Given the description of an element on the screen output the (x, y) to click on. 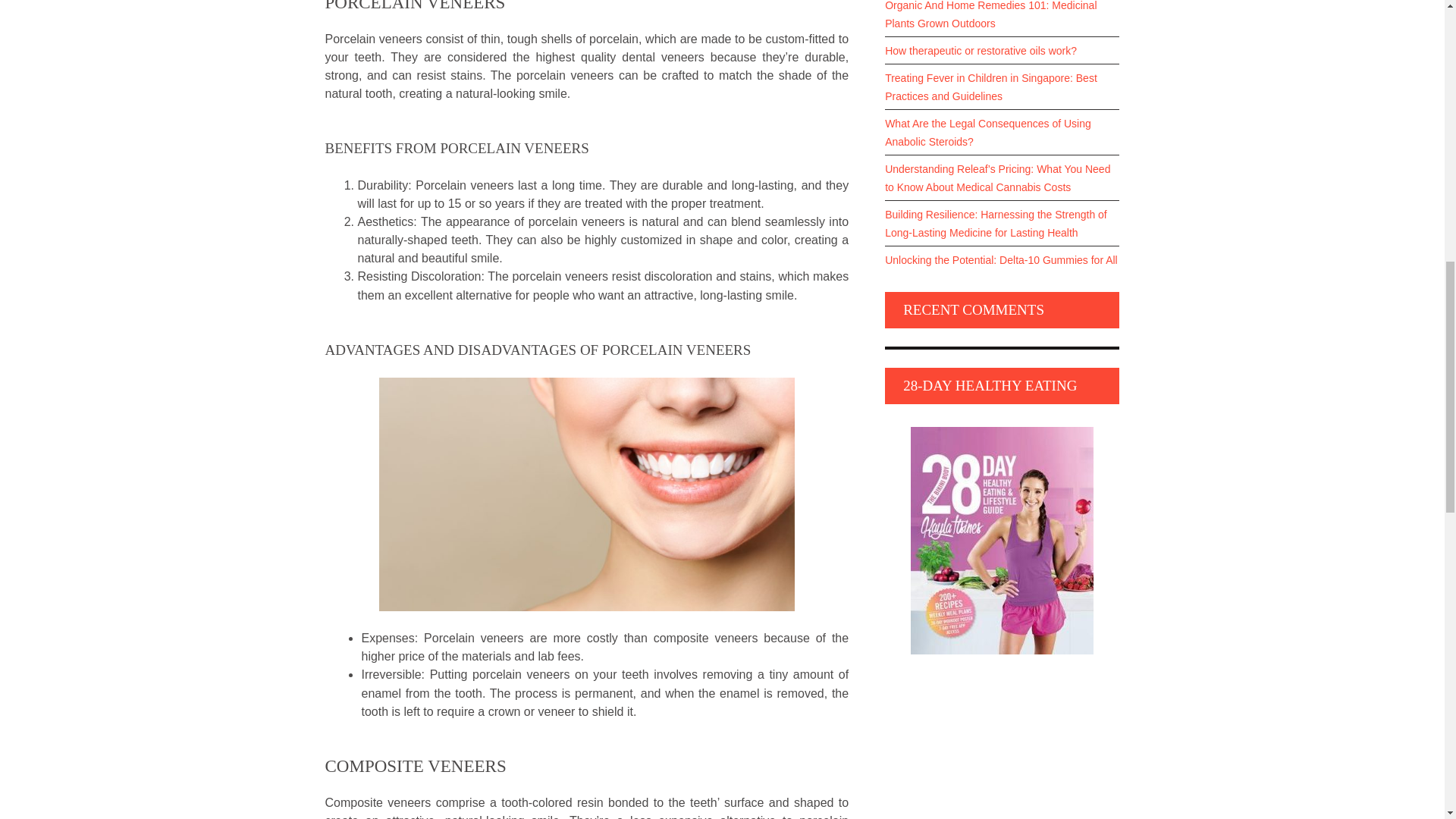
How therapeutic or restorative oils work? (1002, 50)
